Given the description of an element on the screen output the (x, y) to click on. 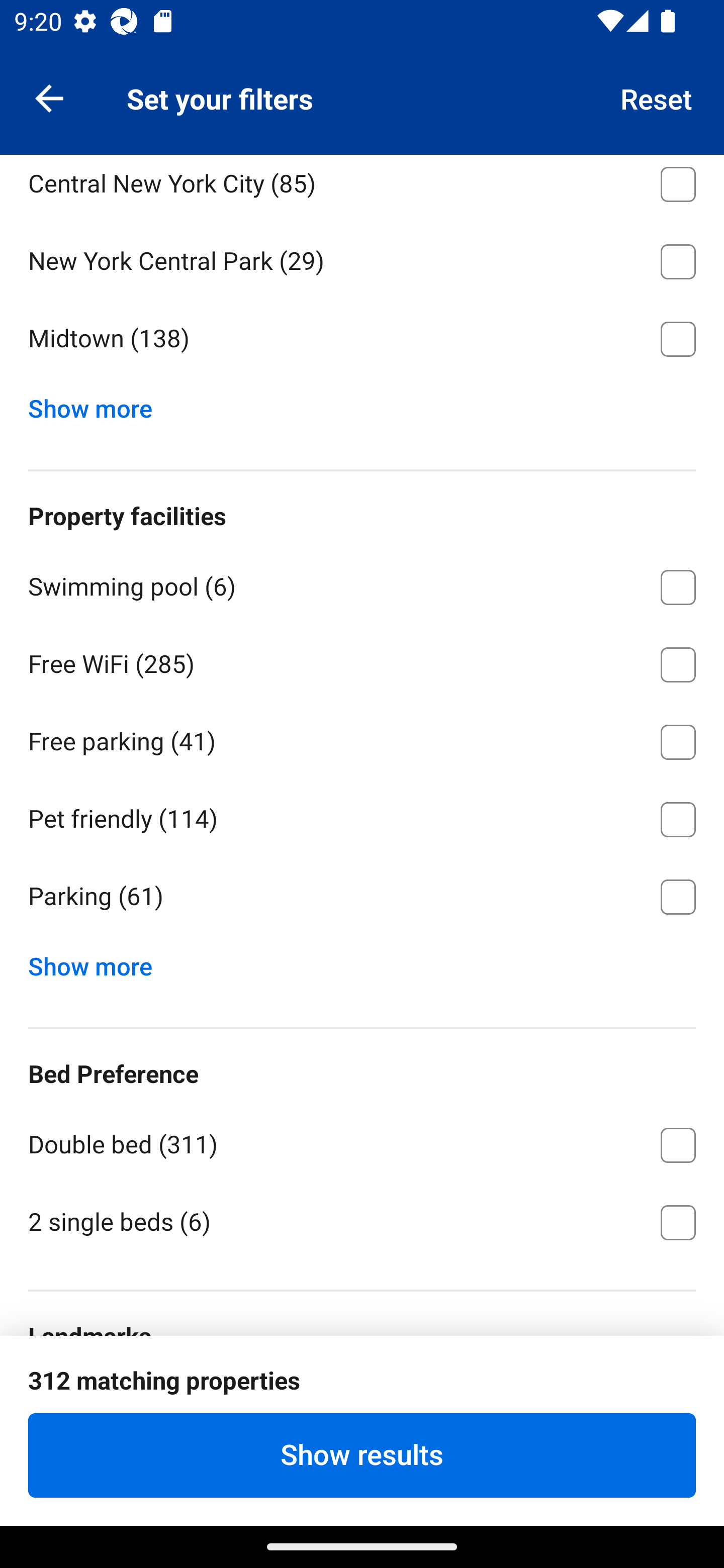
Navigate up (49, 97)
Reset (656, 97)
Manhattan ⁦(310) (361, 103)
Central New York City ⁦(85) (361, 187)
New York Central Park ⁦(29) (361, 257)
Midtown ⁦(138) (361, 338)
Show more (97, 403)
Swimming pool ⁦(6) (361, 583)
Free WiFi ⁦(285) (361, 660)
Free parking ⁦(41) (361, 738)
Pet friendly ⁦(114) (361, 815)
Parking ⁦(61) (361, 896)
Show more (97, 961)
Double bed ⁦(311) (361, 1141)
2 single beds ⁦(6) (361, 1220)
Times Square ⁦(53) (361, 1403)
Show results (361, 1454)
